Given the description of an element on the screen output the (x, y) to click on. 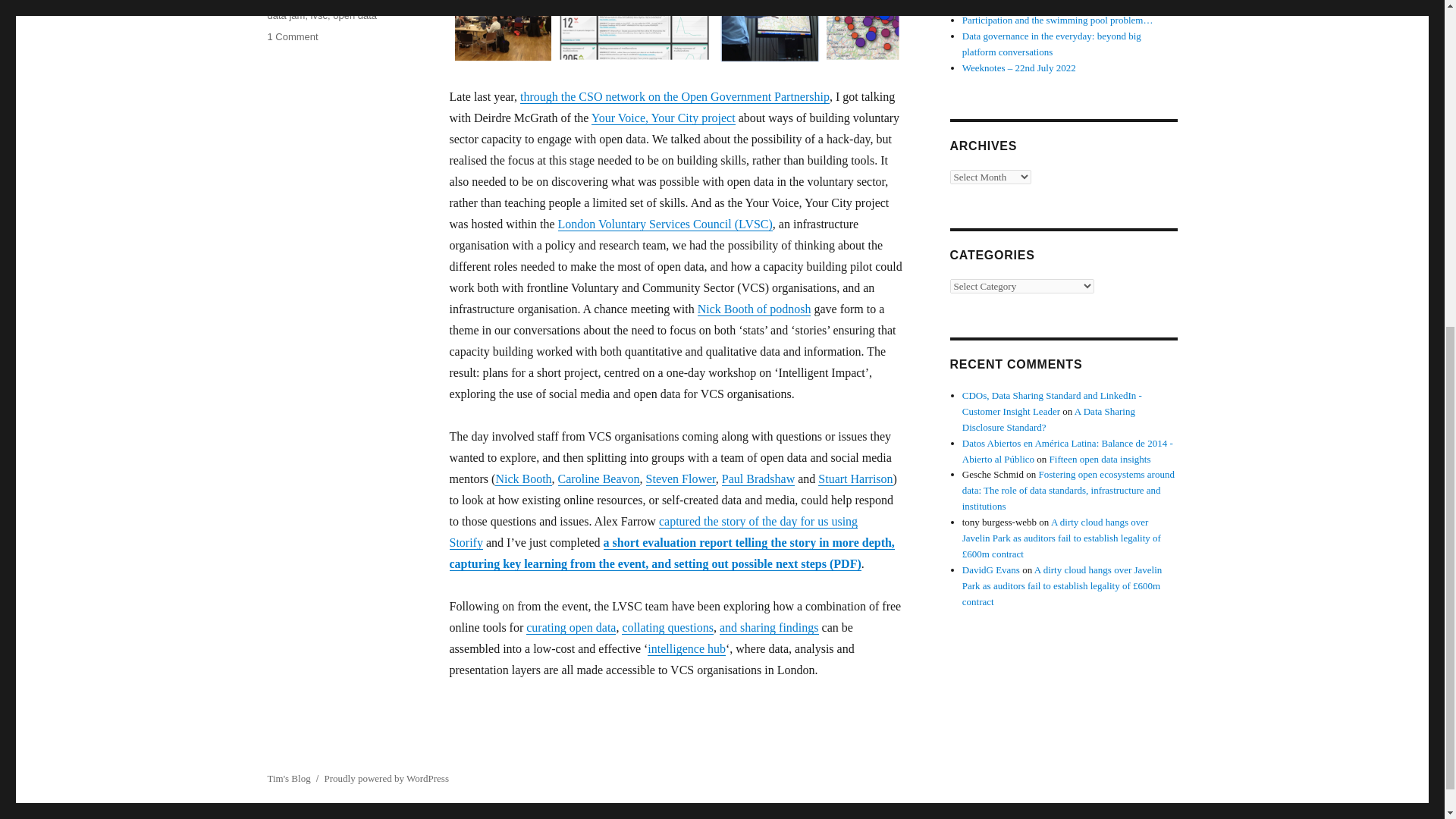
Paul Bradshaw (758, 478)
Reflections on two reunions (1017, 4)
Your Voice, Your City project (663, 117)
Steven Flower (681, 478)
data jam (285, 15)
Caroline Beavon (598, 478)
A Data Sharing Disclosure Standard? (1048, 419)
Nick Booth of podnosh (753, 308)
